Given the description of an element on the screen output the (x, y) to click on. 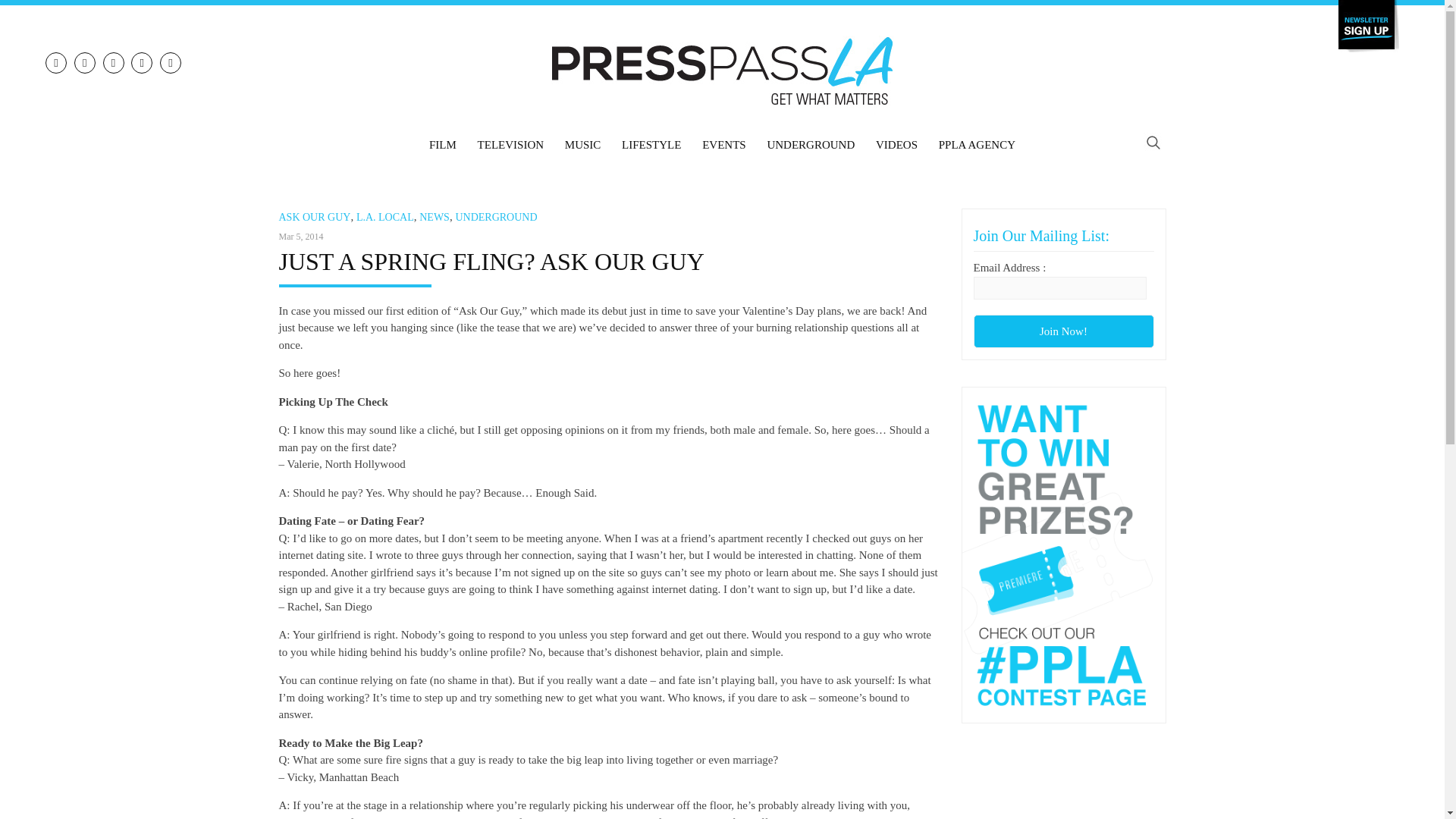
LIFESTYLE (651, 144)
EVENTS (723, 144)
NEWS (434, 216)
TELEVISION (510, 144)
Join Now! (1064, 330)
L.A. LOCAL (384, 216)
MUSIC (583, 144)
VIDEOS (896, 144)
UNDERGROUND (809, 144)
ASK OUR GUY (314, 216)
